Given the description of an element on the screen output the (x, y) to click on. 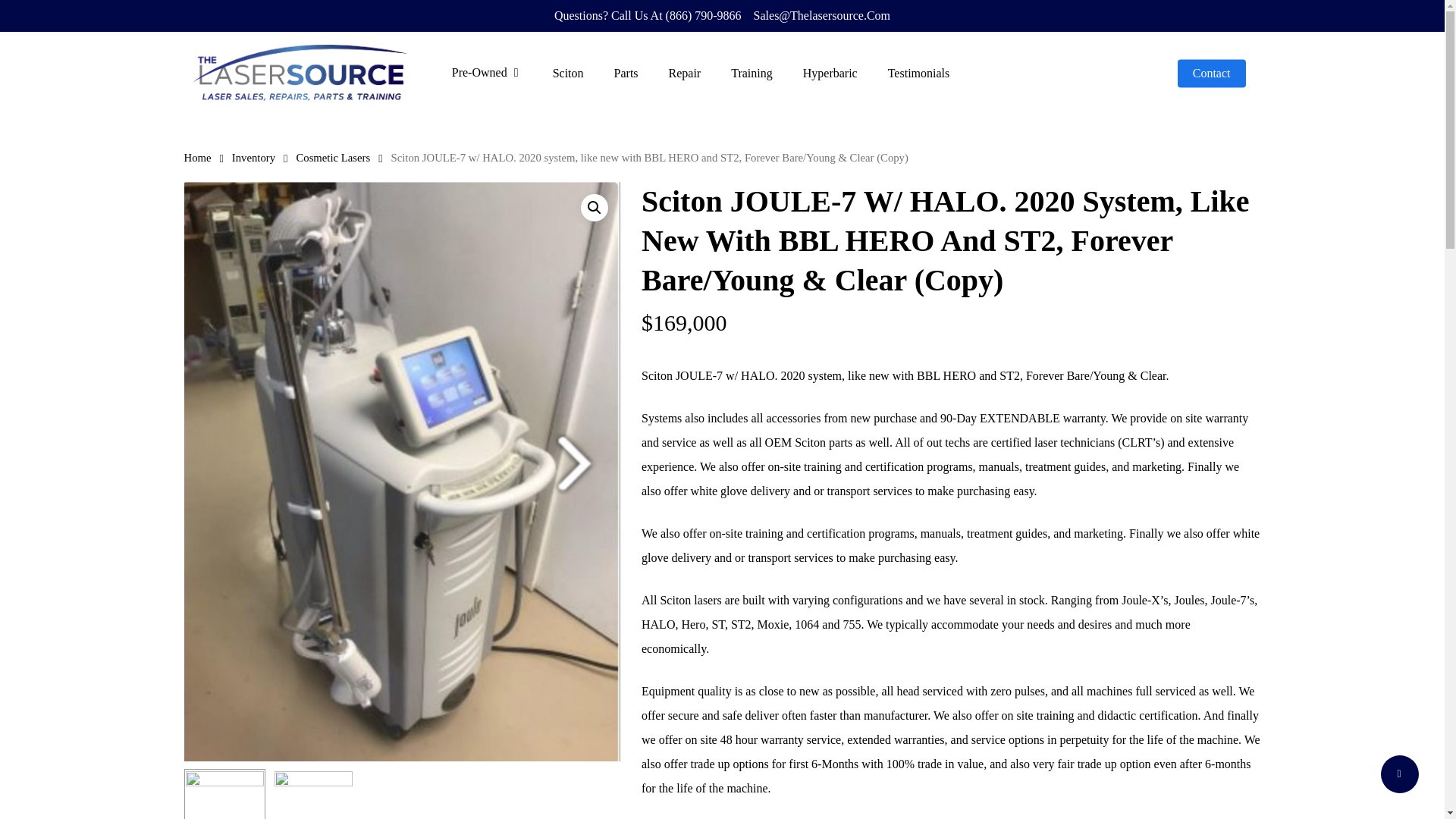
Pre-Owned (486, 72)
Hyperbaric (829, 73)
Contact (1211, 73)
Sciton (567, 73)
Training (751, 73)
Testimonials (918, 73)
Parts (625, 73)
Repair (684, 73)
Cosmetic Lasers (332, 157)
Inventory (253, 157)
Home (197, 157)
